Given the description of an element on the screen output the (x, y) to click on. 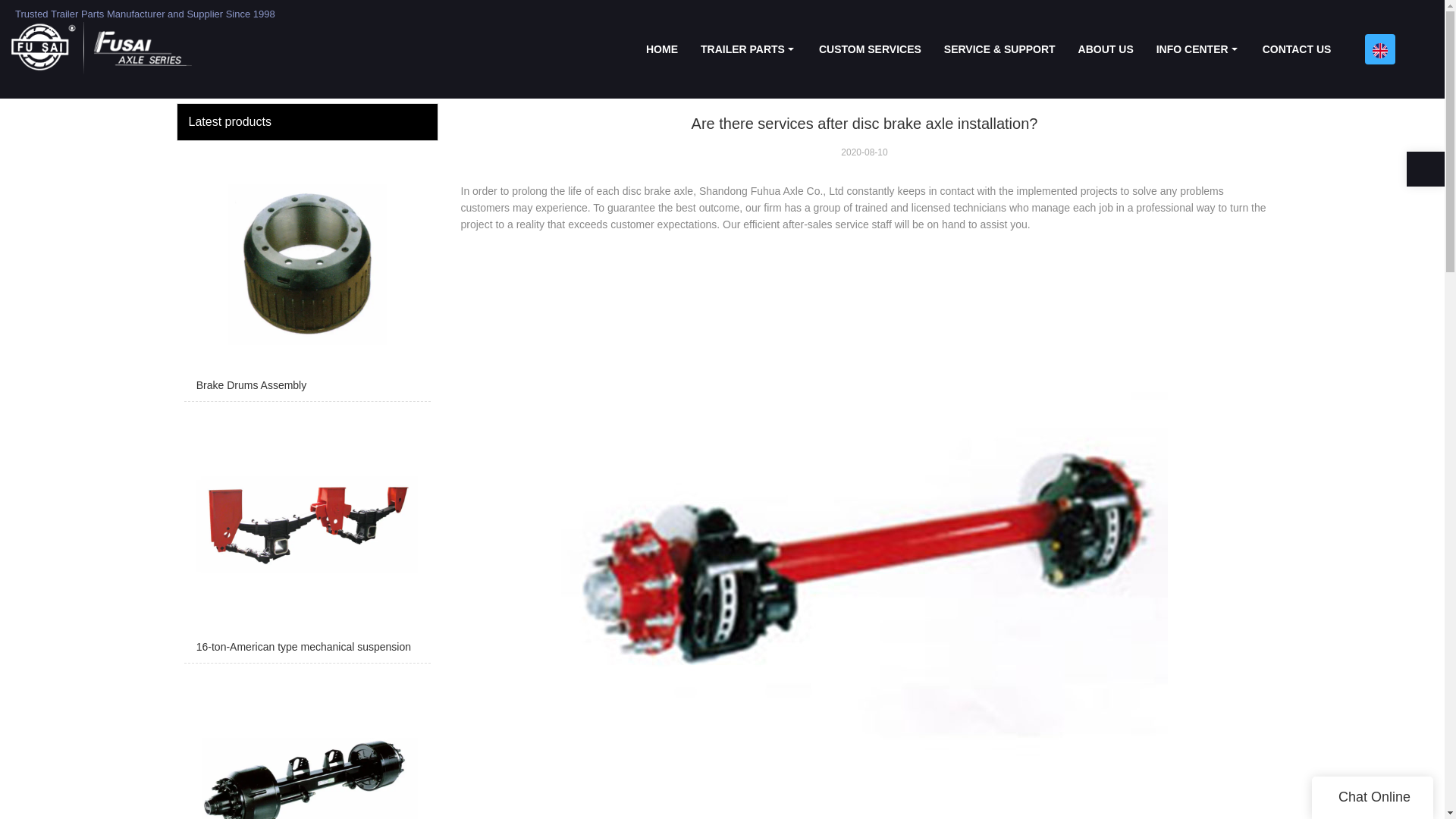
HOME (661, 49)
16-ton-American type mechanical suspension (306, 535)
ABOUT US (1105, 49)
CONTACT US (1296, 49)
INFO CENTER (1197, 49)
German Drum 12T (306, 744)
Brake Drums Assembly (306, 275)
TRAILER PARTS (748, 49)
CUSTOM SERVICES (870, 49)
